Given the description of an element on the screen output the (x, y) to click on. 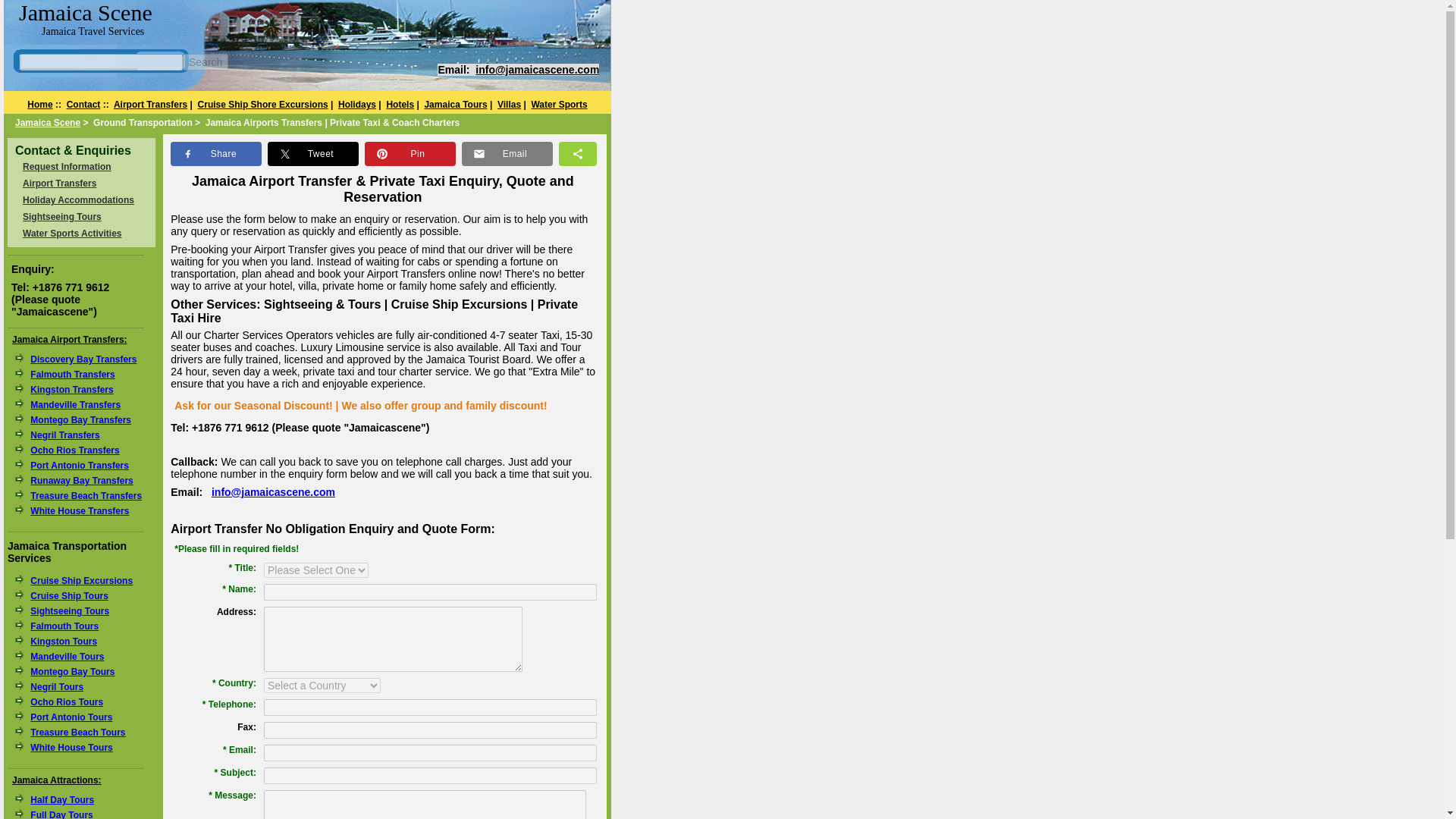
Contact (83, 104)
Negril Tours (56, 686)
Holiday Accommodations (78, 199)
Villas (509, 104)
Home (39, 104)
Holidays (356, 104)
Enquiry (67, 166)
Ocho Rios Transfers (74, 450)
Falmouth Transfers (72, 374)
Holiday Accommodation Enquiry (78, 199)
Jamaica Tours (454, 104)
Villas (509, 104)
Jamaica Tours (454, 104)
Ocho Rios Tours (66, 701)
Cruise Ship Shore Excursions (263, 104)
